Given the description of an element on the screen output the (x, y) to click on. 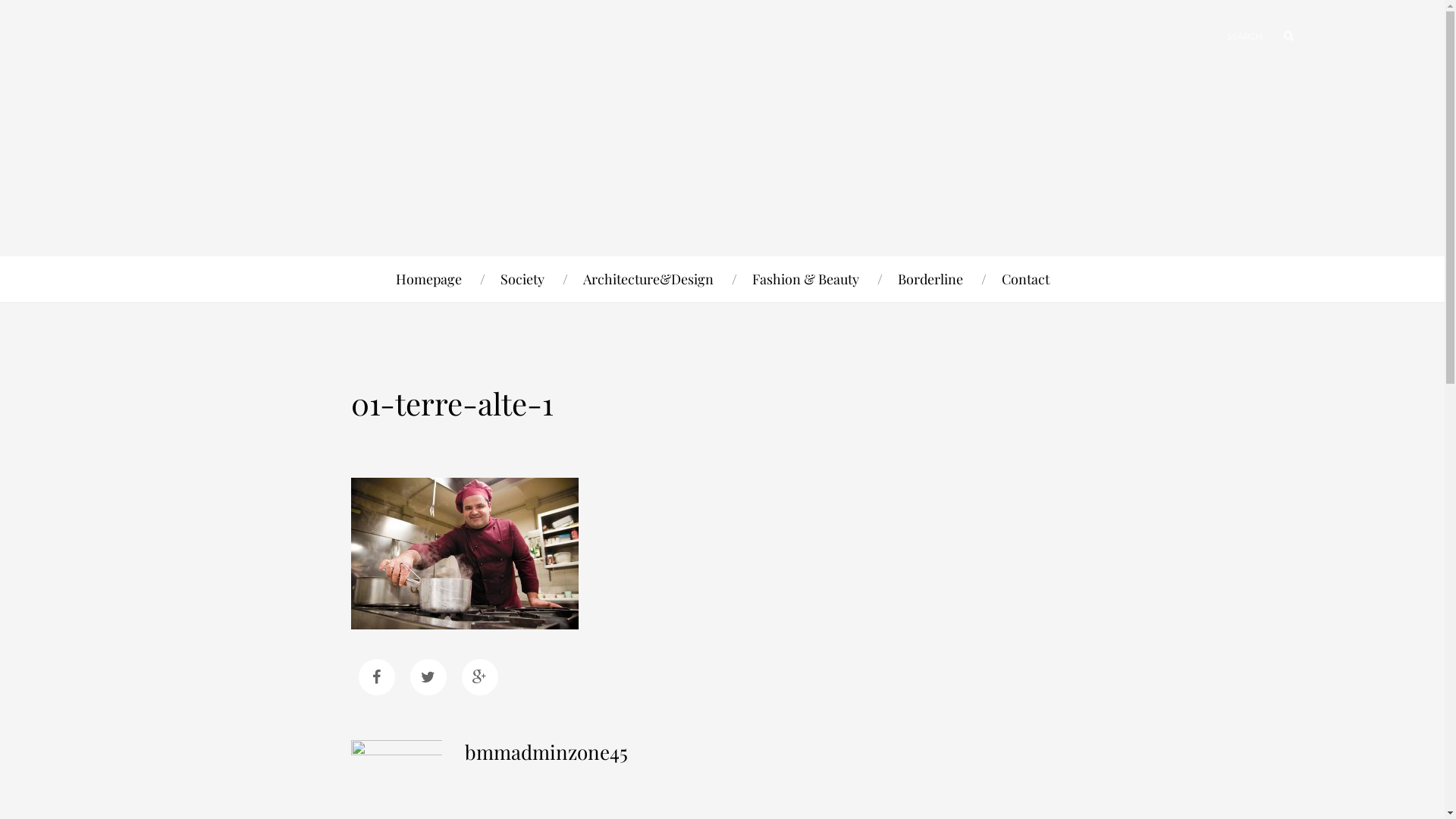
Contact Element type: text (1024, 278)
Architecture&Design Element type: text (647, 278)
Fashion & Beauty Element type: text (805, 278)
Society Element type: text (522, 278)
Borderline Element type: text (930, 278)
Homepage Element type: text (428, 278)
Search Element type: text (1281, 35)
